Given the description of an element on the screen output the (x, y) to click on. 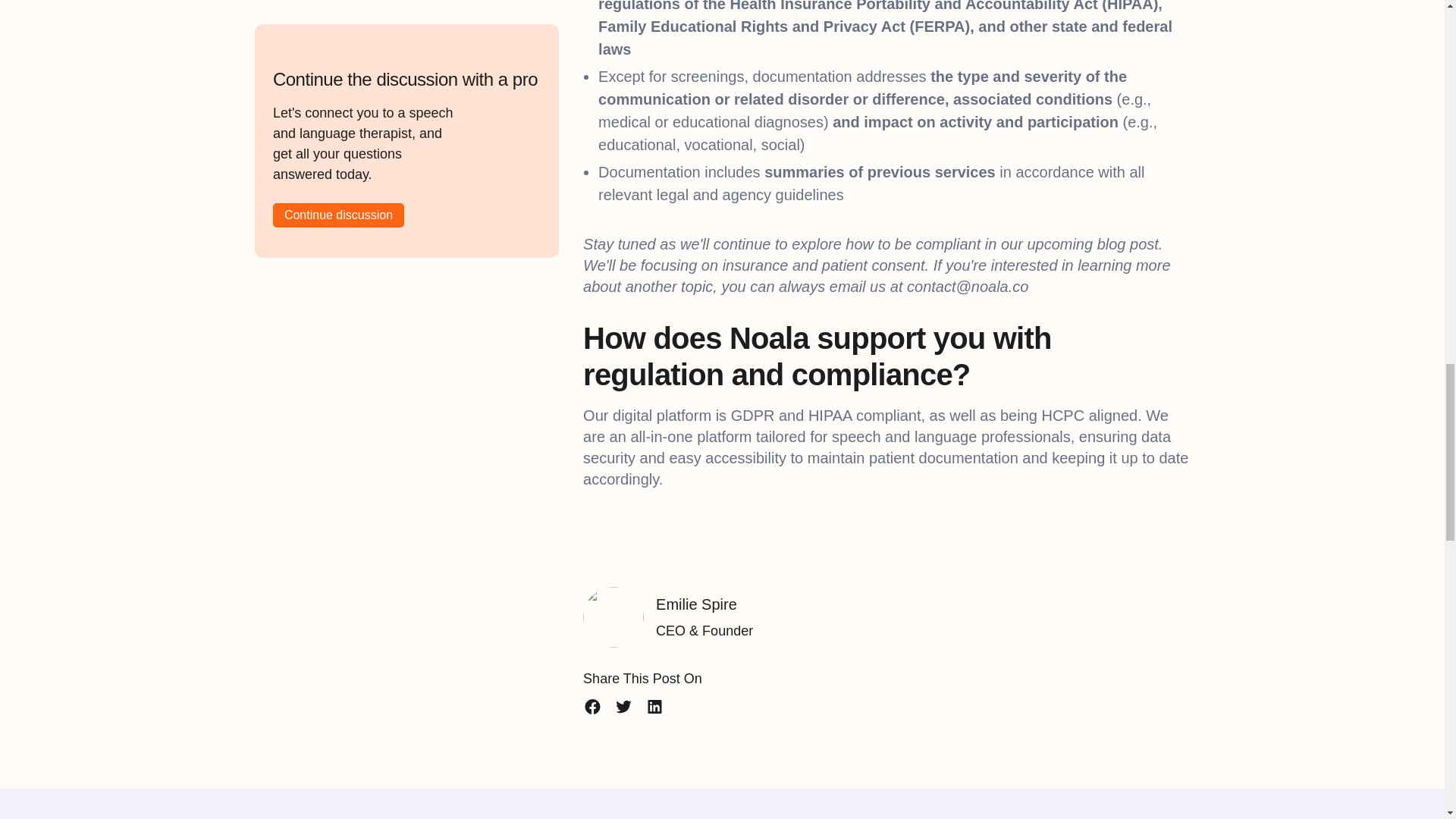
Share on Facebook (592, 706)
Share on LinkedIn (654, 706)
Our digital platform (649, 415)
Share on Twitter (623, 706)
